Given the description of an element on the screen output the (x, y) to click on. 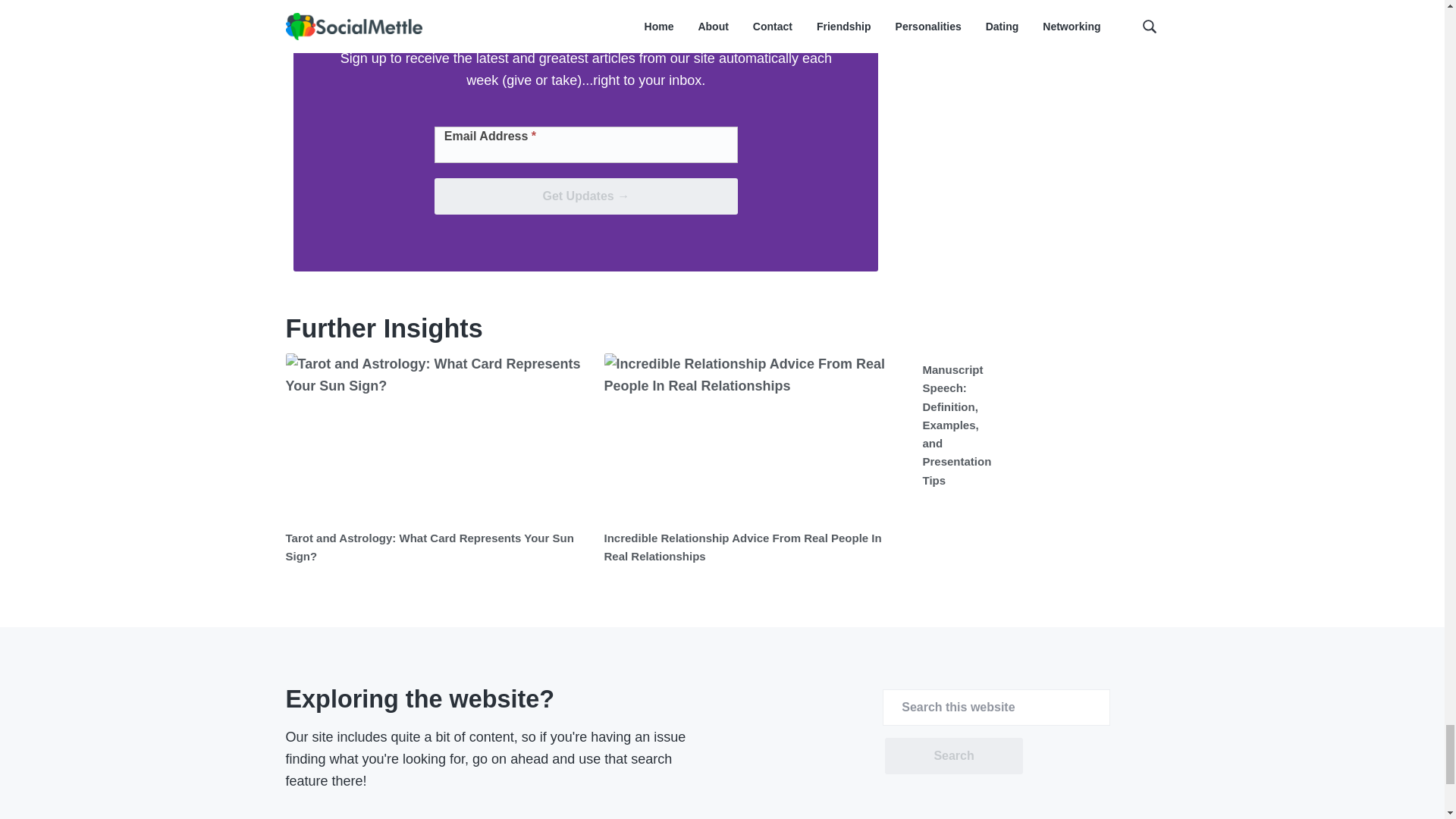
Search (953, 755)
Tarot and Astrology: What Card Represents Your Sun Sign? (429, 546)
Search (953, 755)
